Given the description of an element on the screen output the (x, y) to click on. 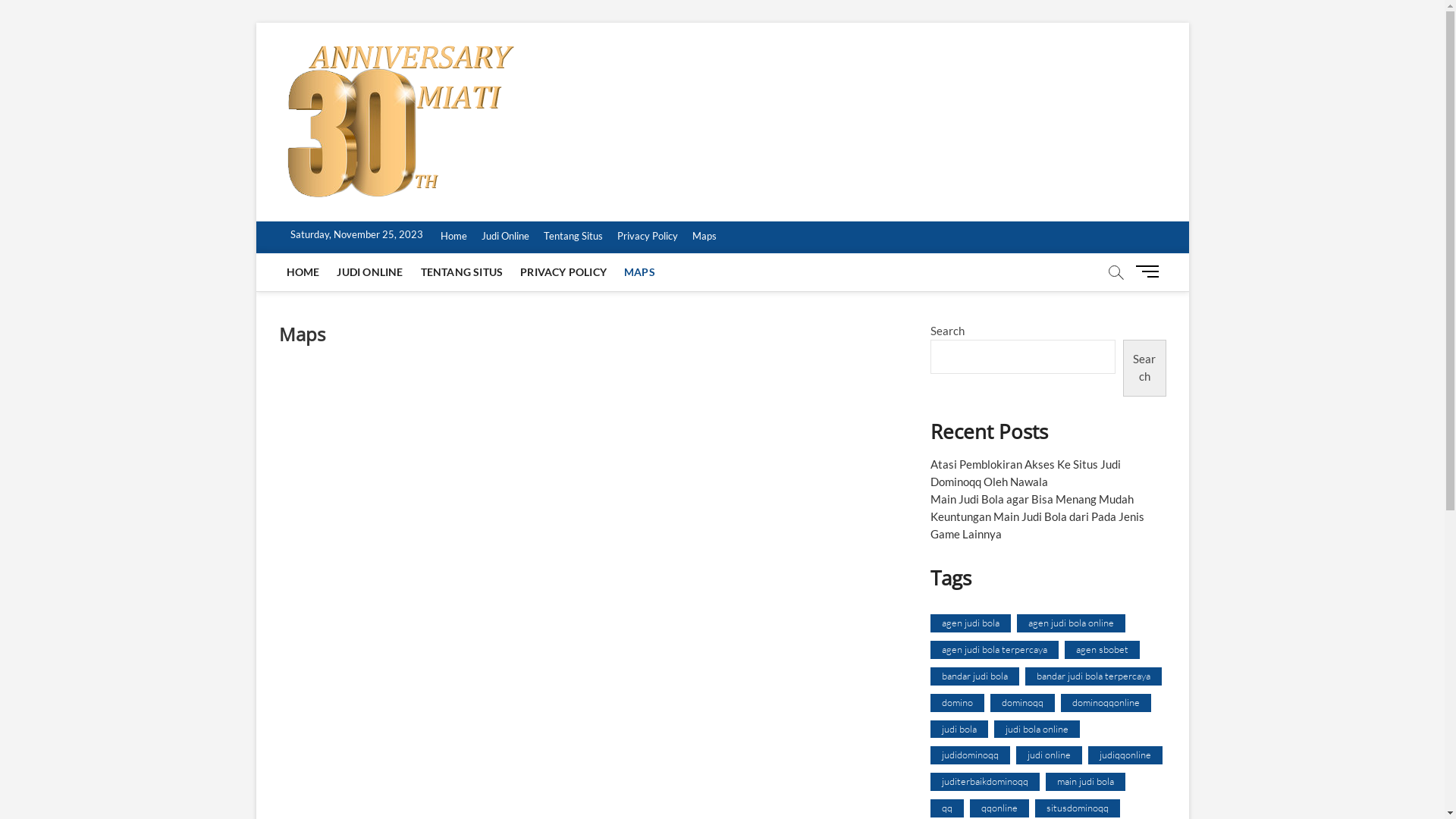
juditerbaikdominoqq Element type: text (983, 781)
PRIVACY POLICY Element type: text (563, 272)
dominoqq Element type: text (1022, 702)
TENTANG SITUS Element type: text (462, 272)
qqonline Element type: text (998, 808)
main judi bola Element type: text (1084, 781)
judi bola Element type: text (958, 729)
agen judi bola Element type: text (969, 623)
judiqqonline Element type: text (1124, 755)
agen judi bola terpercaya Element type: text (993, 649)
HOME Element type: text (303, 272)
judi bola online Element type: text (1036, 729)
Home Element type: text (452, 236)
Skip to content Element type: text (254, 21)
Tentang Situs Element type: text (572, 236)
Main Judi Bola agar Bisa Menang Mudah Element type: text (1030, 498)
agen sbobet Element type: text (1101, 649)
JUDI ONLINE Element type: text (369, 272)
qq Element type: text (946, 808)
Atasi Pemblokiran Akses Ke Situs Judi Dominoqq Oleh Nawala Element type: text (1024, 472)
Keuntungan Main Judi Bola dari Pada Jenis Game Lainnya Element type: text (1036, 524)
situsdominoqq Element type: text (1076, 808)
Judi Online Element type: text (504, 236)
MAPS Element type: text (639, 272)
Search Element type: text (1144, 367)
Privacy Policy Element type: text (647, 236)
dominoqqonline Element type: text (1105, 702)
Maps Element type: text (703, 236)
bandar judi bola Element type: text (973, 676)
Menu Button Element type: text (1150, 270)
agen judi bola online Element type: text (1070, 623)
domino Element type: text (956, 702)
judi online Element type: text (1049, 755)
My Blog Element type: text (564, 73)
judidominoqq Element type: text (969, 755)
bandar judi bola terpercaya Element type: text (1093, 676)
